Given the description of an element on the screen output the (x, y) to click on. 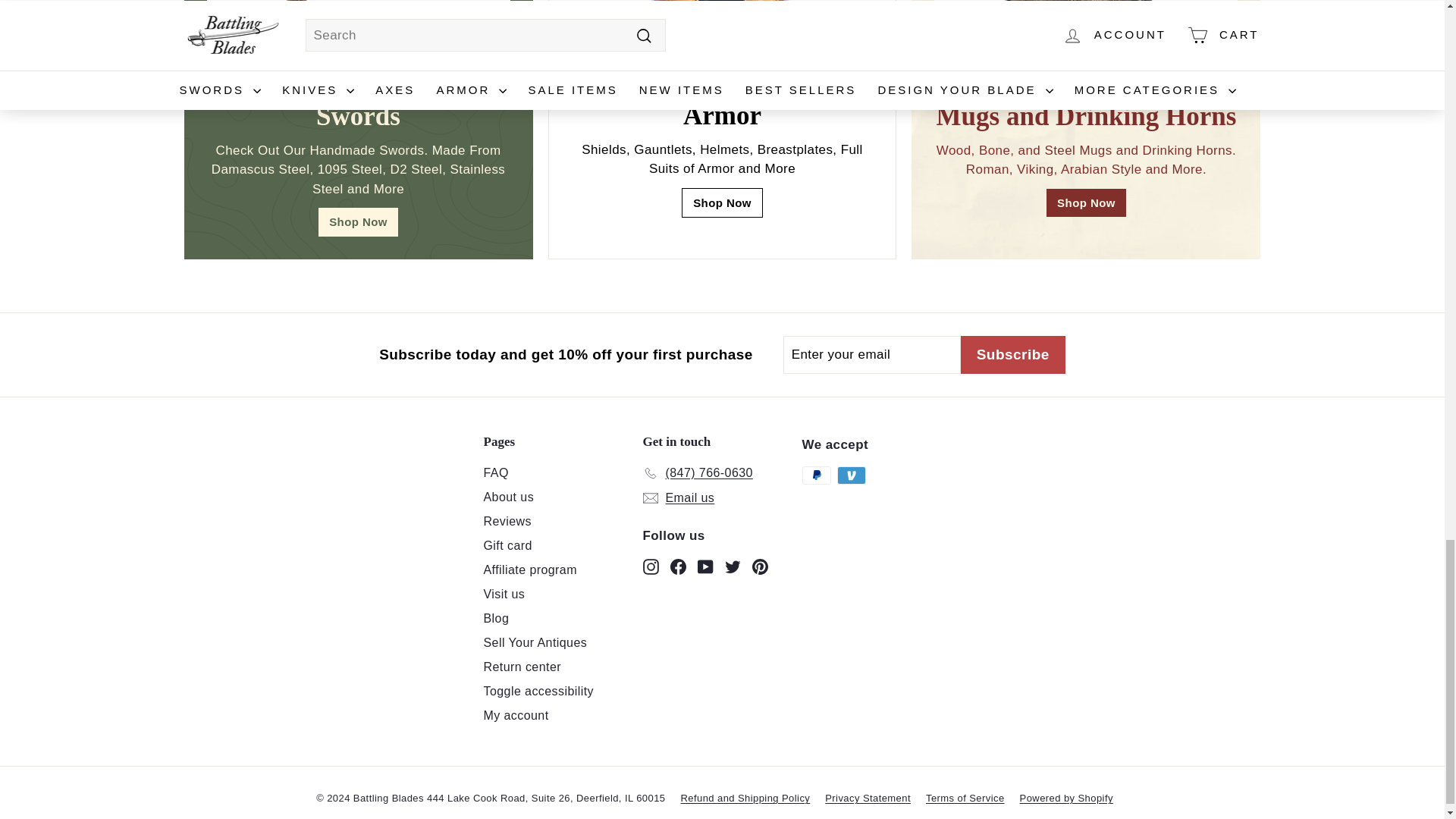
twitter (733, 566)
instagram (651, 566)
PayPal (816, 475)
Venmo (851, 475)
